Given the description of an element on the screen output the (x, y) to click on. 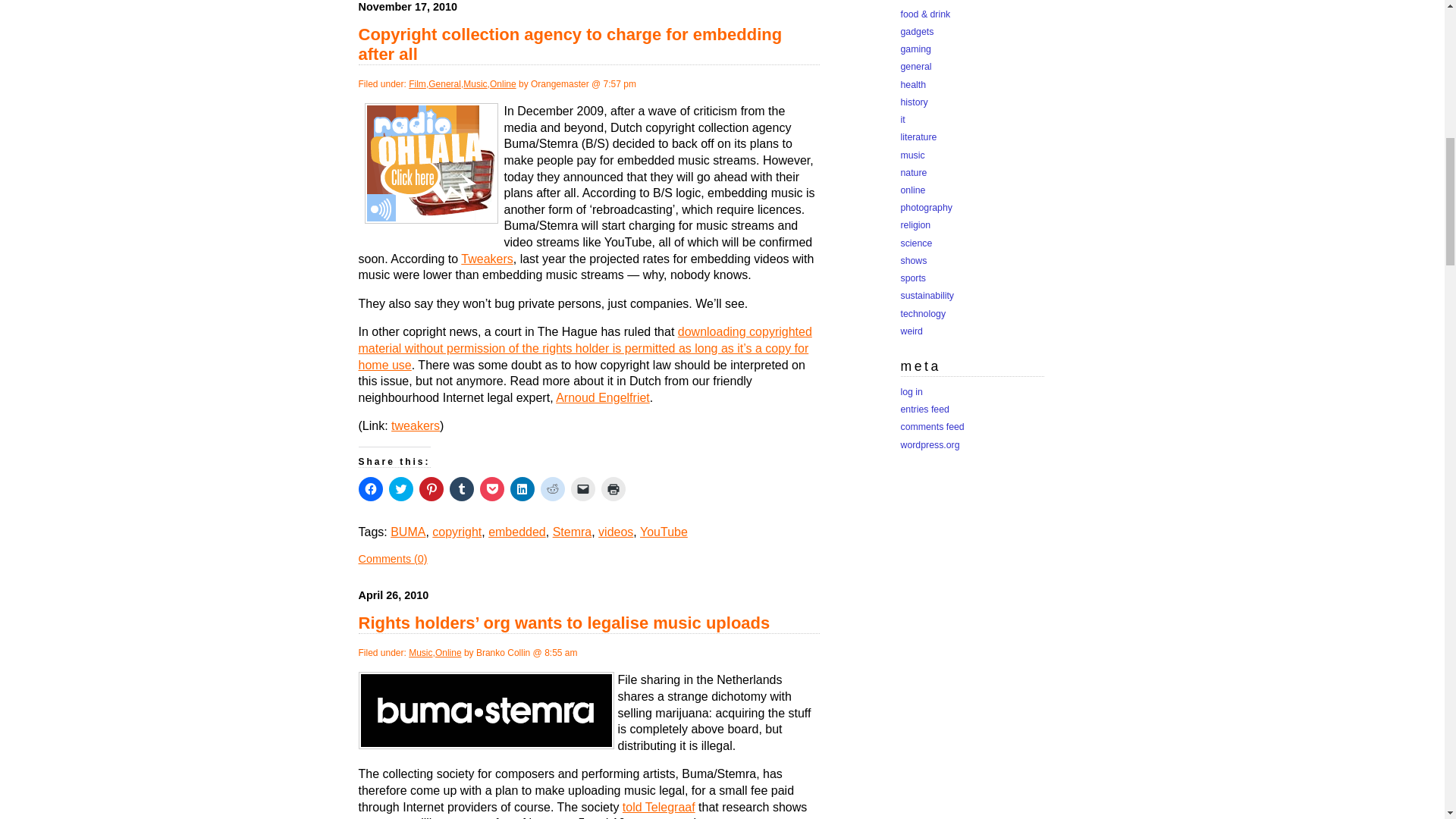
General (444, 83)
Online (502, 83)
Film (417, 83)
Music (474, 83)
